Given the description of an element on the screen output the (x, y) to click on. 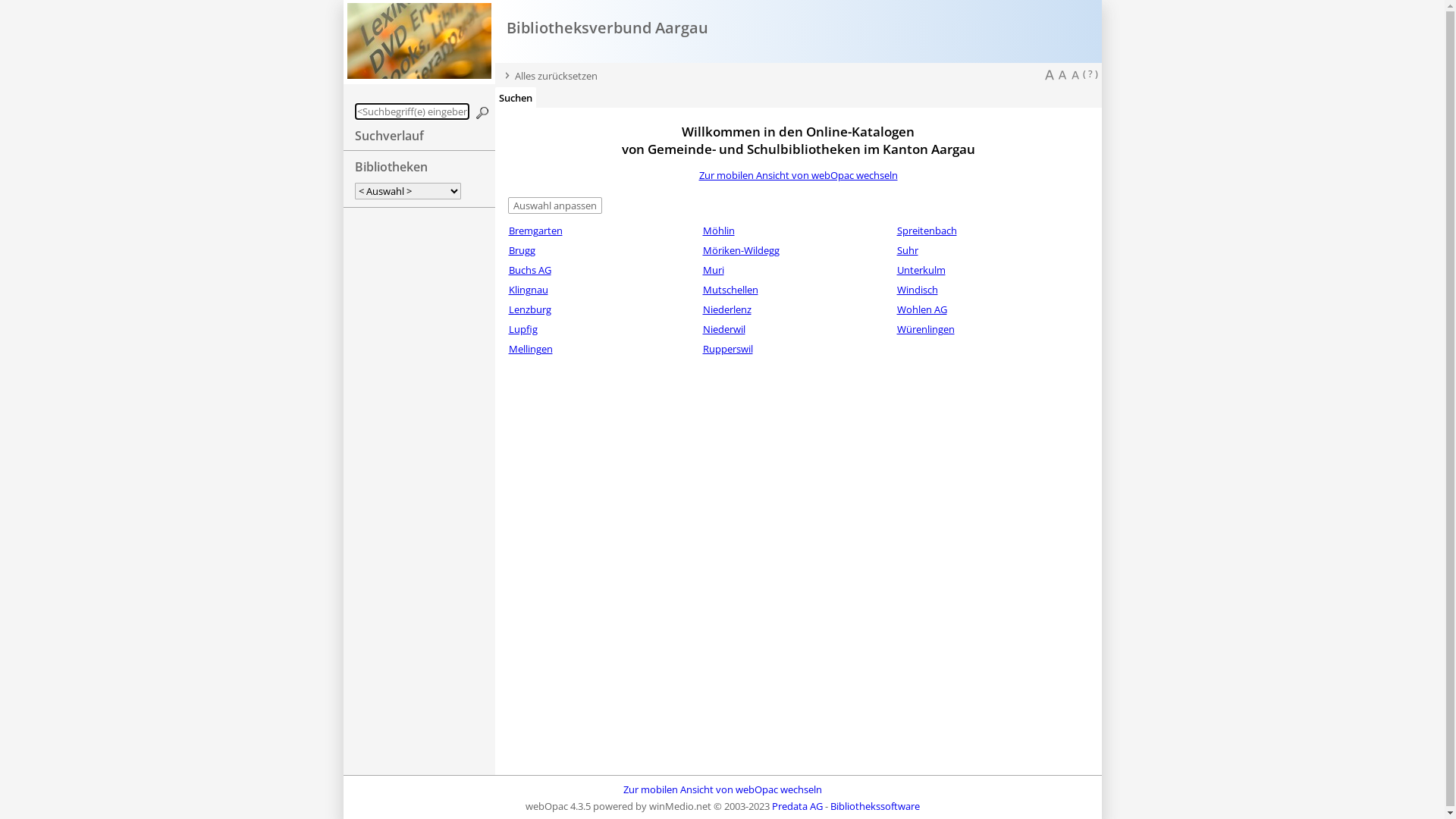
Brugg Element type: text (521, 250)
Bremgarten Element type: text (534, 230)
Zur mobilen Ansicht von webOpac wechseln Element type: text (798, 175)
Spreitenbach Element type: text (926, 230)
Niederwil Element type: text (723, 328)
Buchs AG Element type: text (529, 269)
Zur mobilen Ansicht von webOpac wechseln Element type: text (722, 789)
Bibliothekssoftware Element type: text (874, 805)
Niederlenz Element type: text (726, 309)
Mellingen Element type: text (530, 348)
Unterkulm Element type: text (920, 269)
Muri Element type: text (712, 269)
Auswahl anpassen Element type: text (555, 205)
Lupfig Element type: text (522, 328)
Mutschellen Element type: text (729, 289)
Klingnau Element type: text (527, 289)
Predata AG Element type: text (796, 805)
Wohlen AG Element type: text (921, 309)
Go! Element type: hover (482, 112)
Rupperswil Element type: text (727, 348)
Lenzburg Element type: text (529, 309)
Windisch Element type: text (916, 289)
Suhr Element type: text (906, 250)
( ? ) Element type: text (1090, 73)
